Given the description of an element on the screen output the (x, y) to click on. 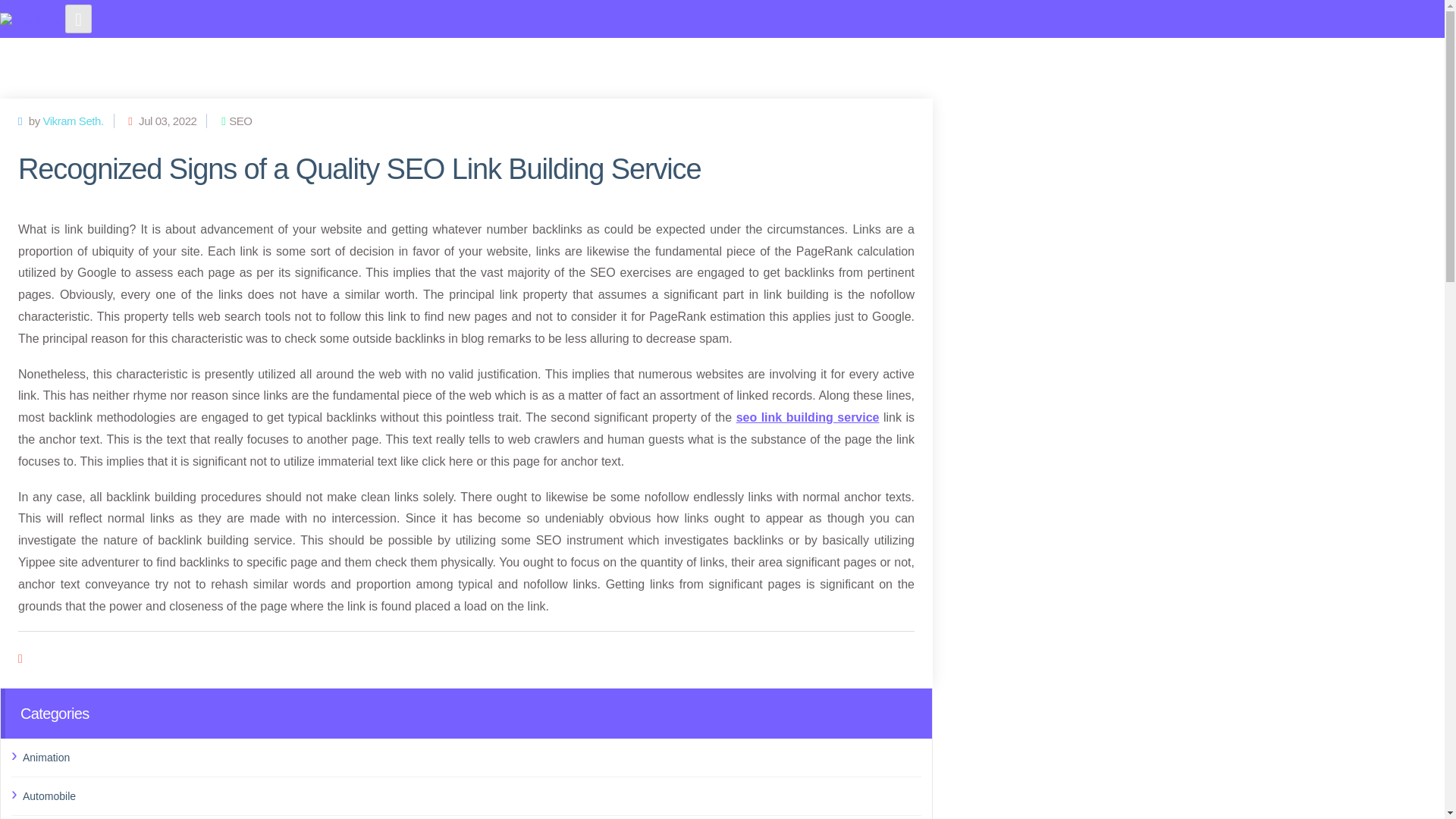
Automobile (472, 795)
seo link building service (807, 417)
BUSINESS (900, 58)
HEALTH (769, 58)
Animation (472, 757)
Vikram Seth. (72, 120)
